Given the description of an element on the screen output the (x, y) to click on. 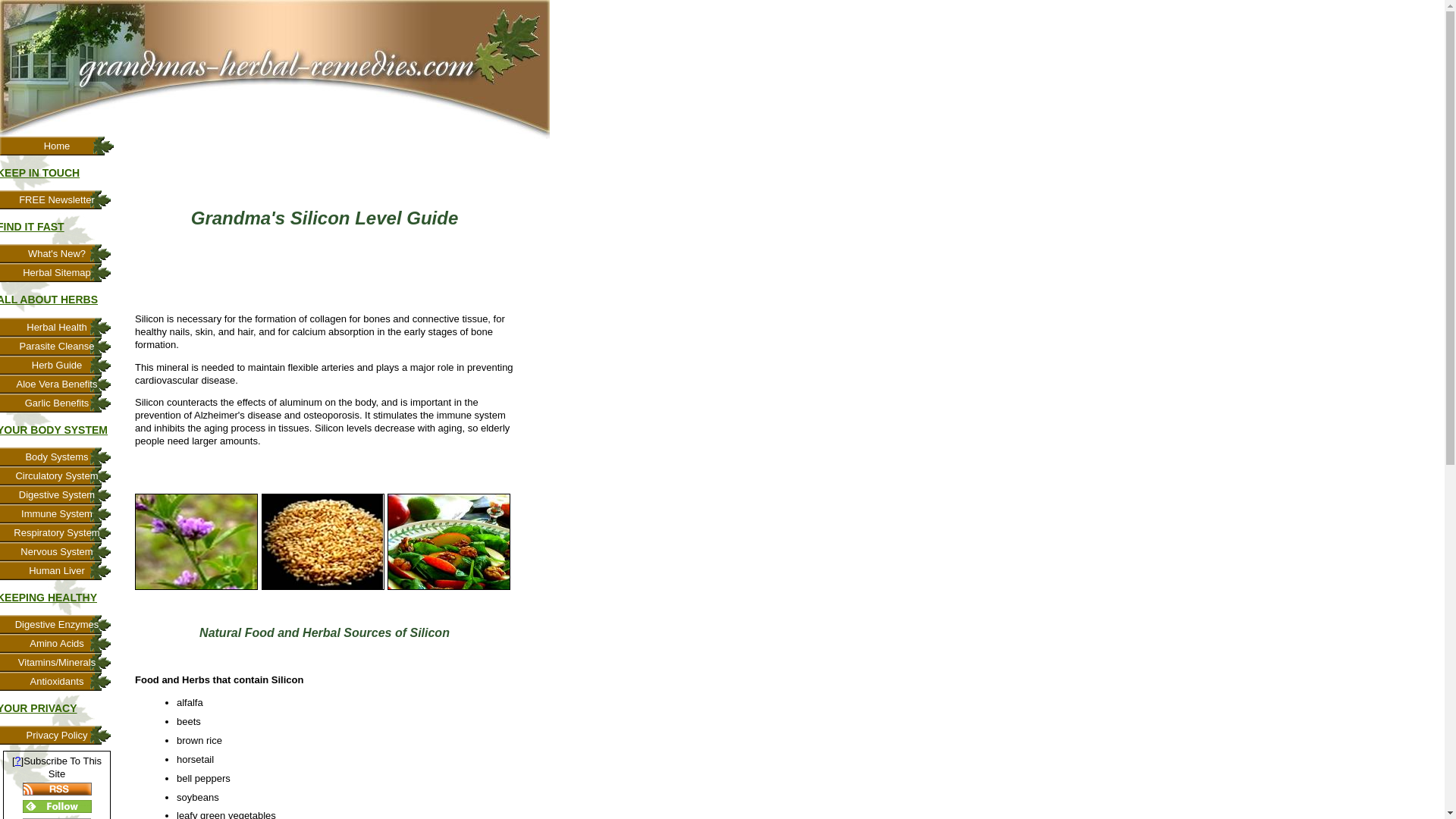
What's New? (58, 253)
Circulatory System (58, 475)
Digestive Enzymes (58, 624)
Human Liver (58, 570)
Amino Acids (58, 642)
Herbal Sitemap (58, 271)
Advertisement (322, 288)
Nervous System (58, 551)
Aloe Vera Benefits (58, 383)
Body Systems (58, 456)
